Given the description of an element on the screen output the (x, y) to click on. 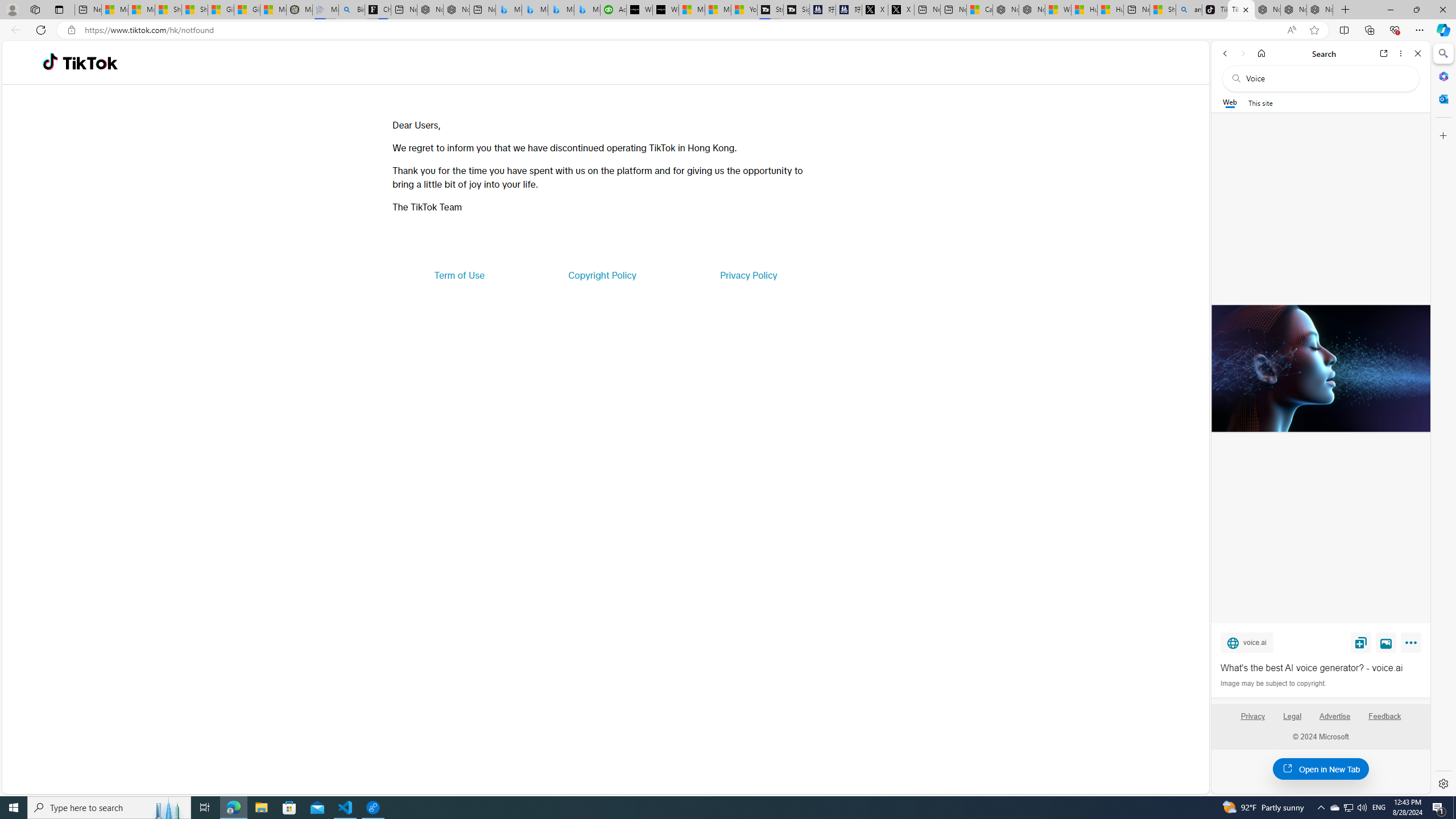
Legal (1291, 715)
Privacy Policy (748, 274)
Open link in new tab (1383, 53)
Nordace - Siena Pro 15 Essential Set (1319, 9)
